Given the description of an element on the screen output the (x, y) to click on. 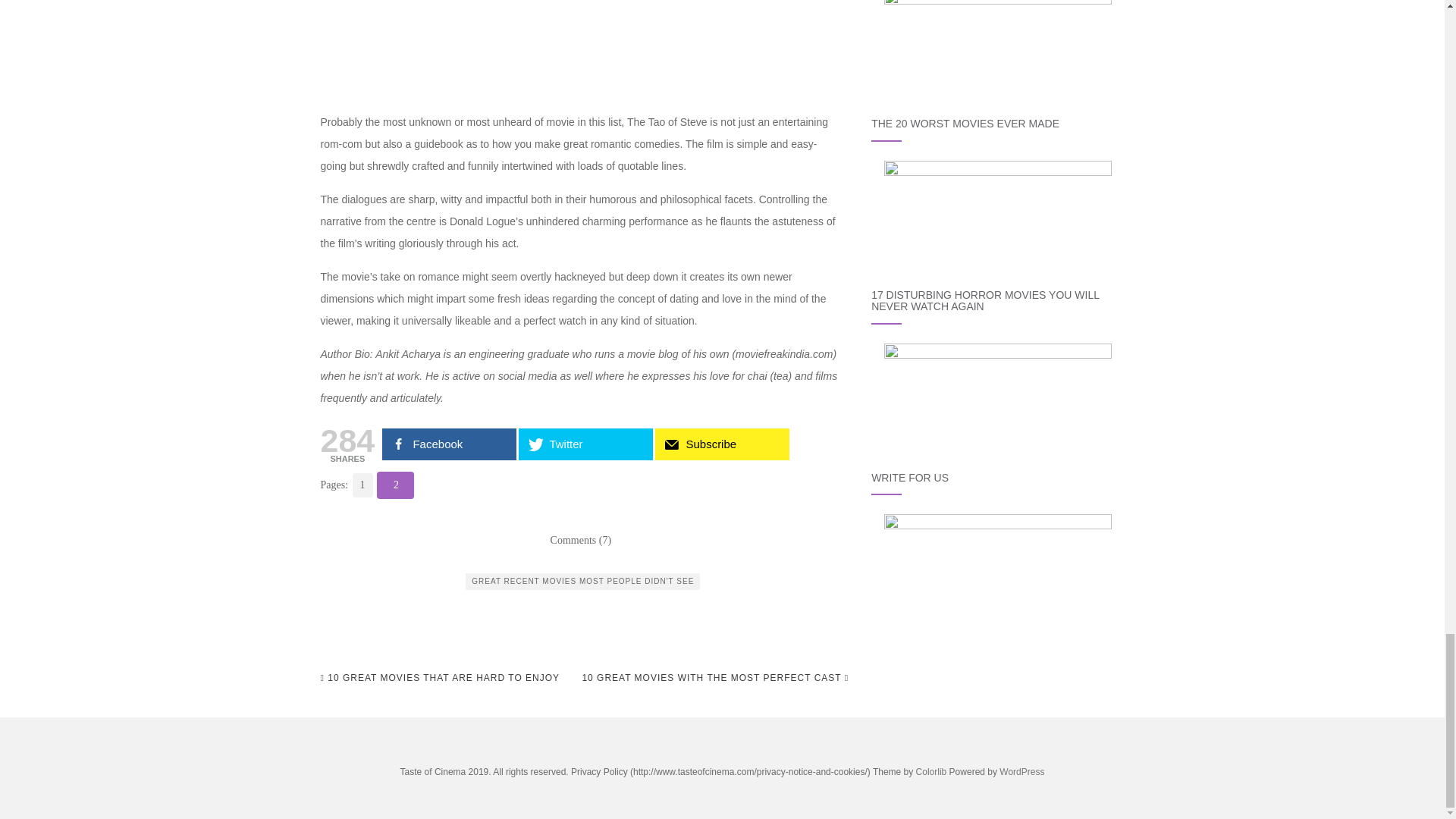
Twitter (585, 444)
10 GREAT MOVIES THAT ARE HARD TO ENJOY (439, 678)
10 GREAT MOVIES WITH THE MOST PERFECT CAST (714, 678)
Subscribe (722, 444)
GREAT RECENT MOVIES MOST PEOPLE DIDN'T SEE (582, 581)
1 (361, 484)
Facebook (448, 444)
